Given the description of an element on the screen output the (x, y) to click on. 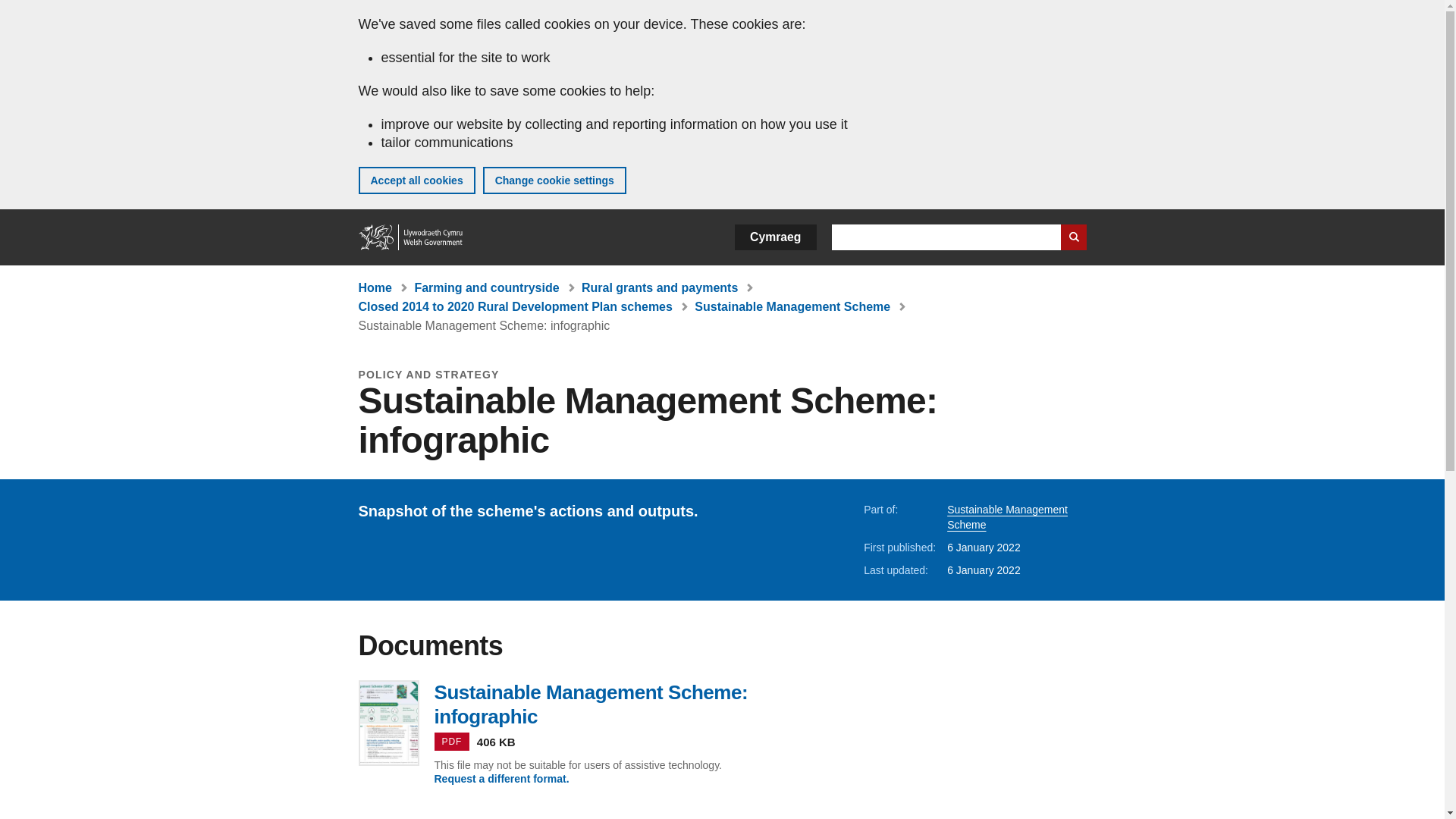
Change cookie settings (554, 180)
Home (374, 287)
Sustainable Management Scheme: infographic (484, 325)
Home (411, 237)
Welsh Government (411, 237)
Request a different format. (501, 778)
Cymraeg (775, 237)
Skip to main content (22, 11)
Search website (1072, 237)
